Given the description of an element on the screen output the (x, y) to click on. 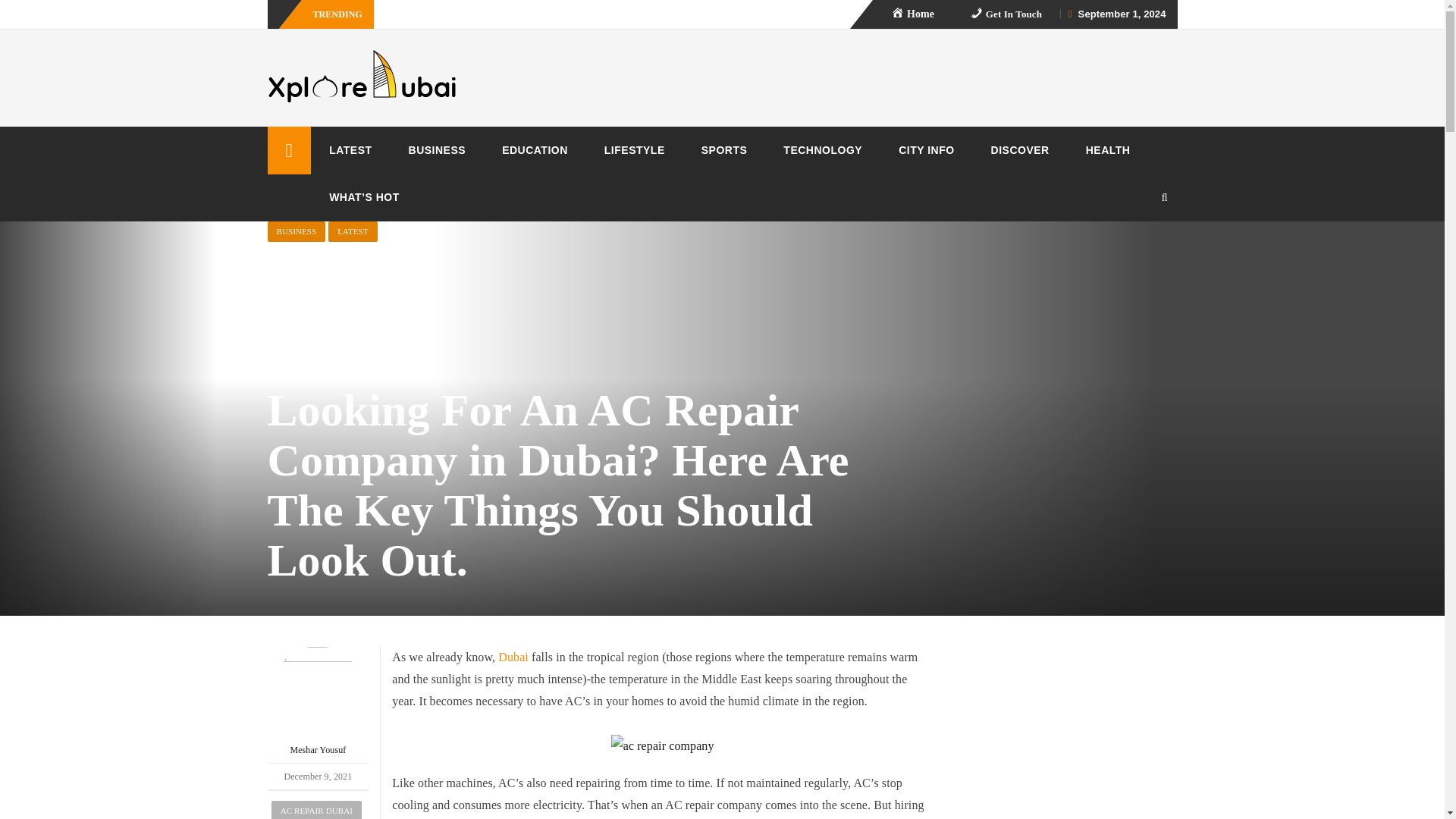
DISCOVER (1019, 149)
LIFESTYLE (634, 149)
AC REPAIR DUBAI (315, 809)
CITY INFO (926, 149)
Dubai (512, 656)
HEALTH (1107, 149)
TECHNOLOGY (822, 149)
BUSINESS (437, 149)
Get In Touch (1006, 13)
